Given the description of an element on the screen output the (x, y) to click on. 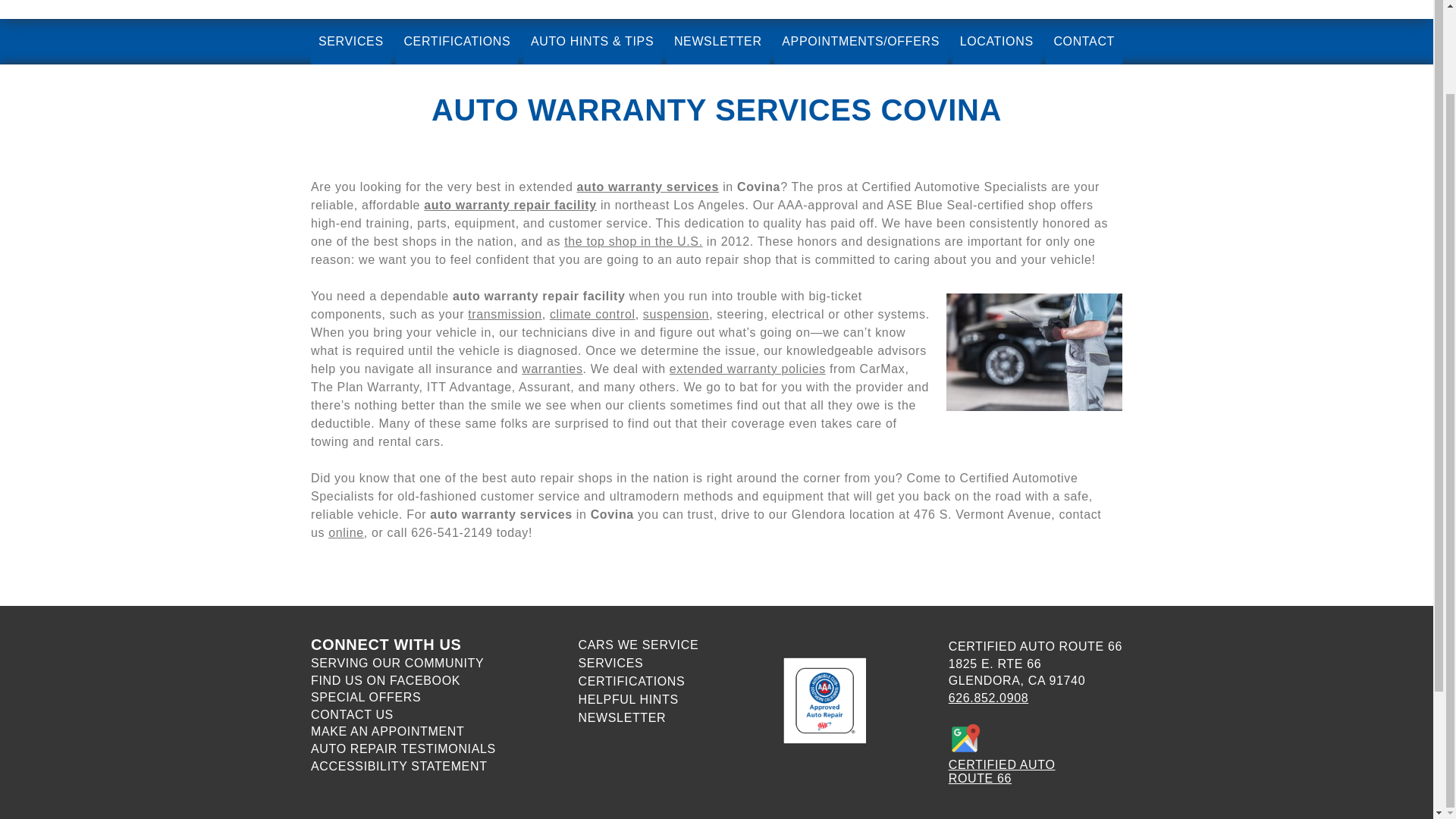
auto warranty repair facility (509, 205)
CONTACT (1083, 41)
LOCATIONS (996, 41)
phone (989, 697)
suspension (676, 314)
the top shop in the U.S. (633, 241)
CERTIFICATIONS (457, 41)
warranties (551, 368)
accessibility statement (399, 766)
climate control (592, 314)
